Given the description of an element on the screen output the (x, y) to click on. 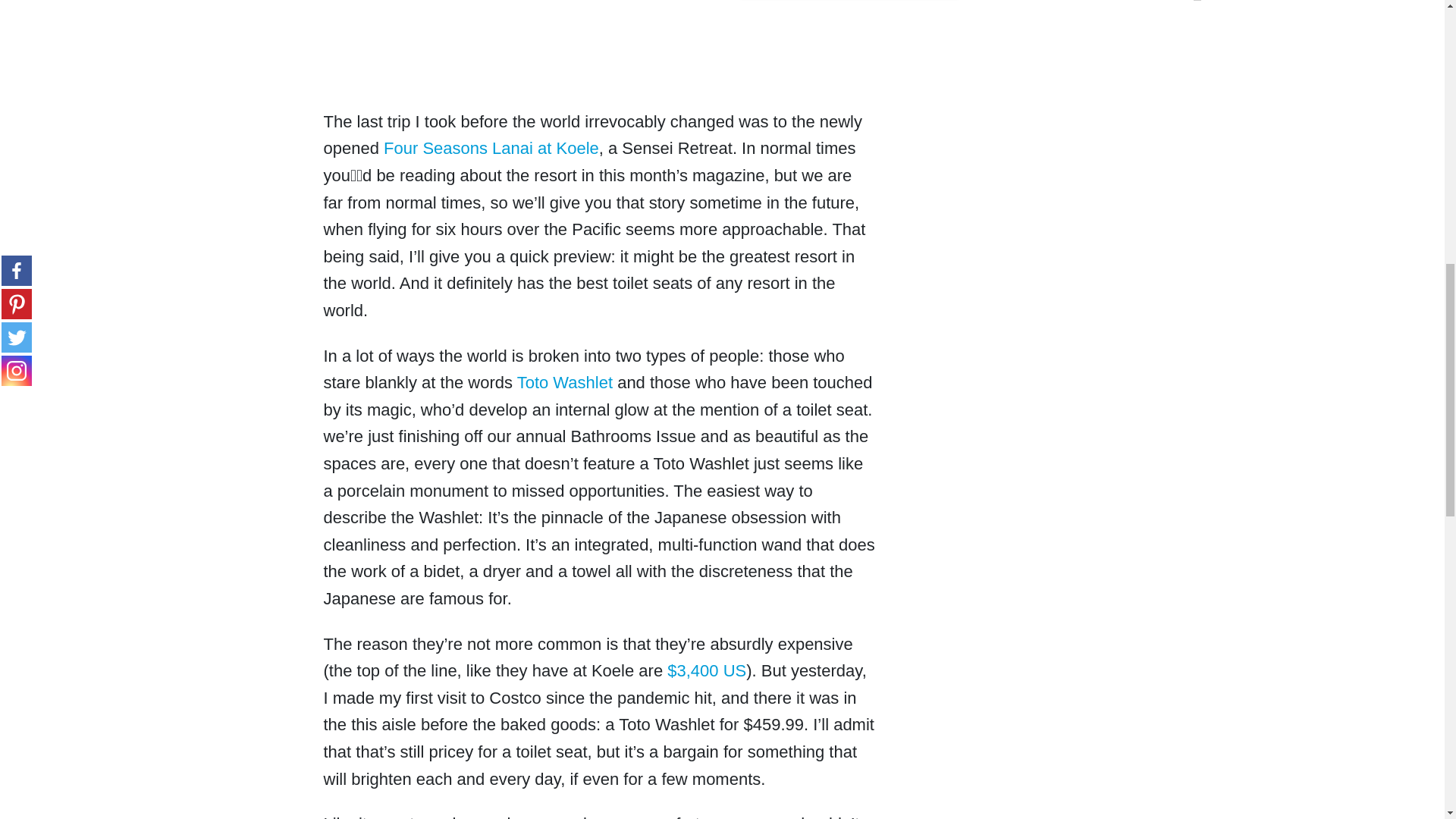
3rd party ad content (1084, 309)
3rd party ad content (1084, 107)
3rd party ad content (599, 58)
